Given the description of an element on the screen output the (x, y) to click on. 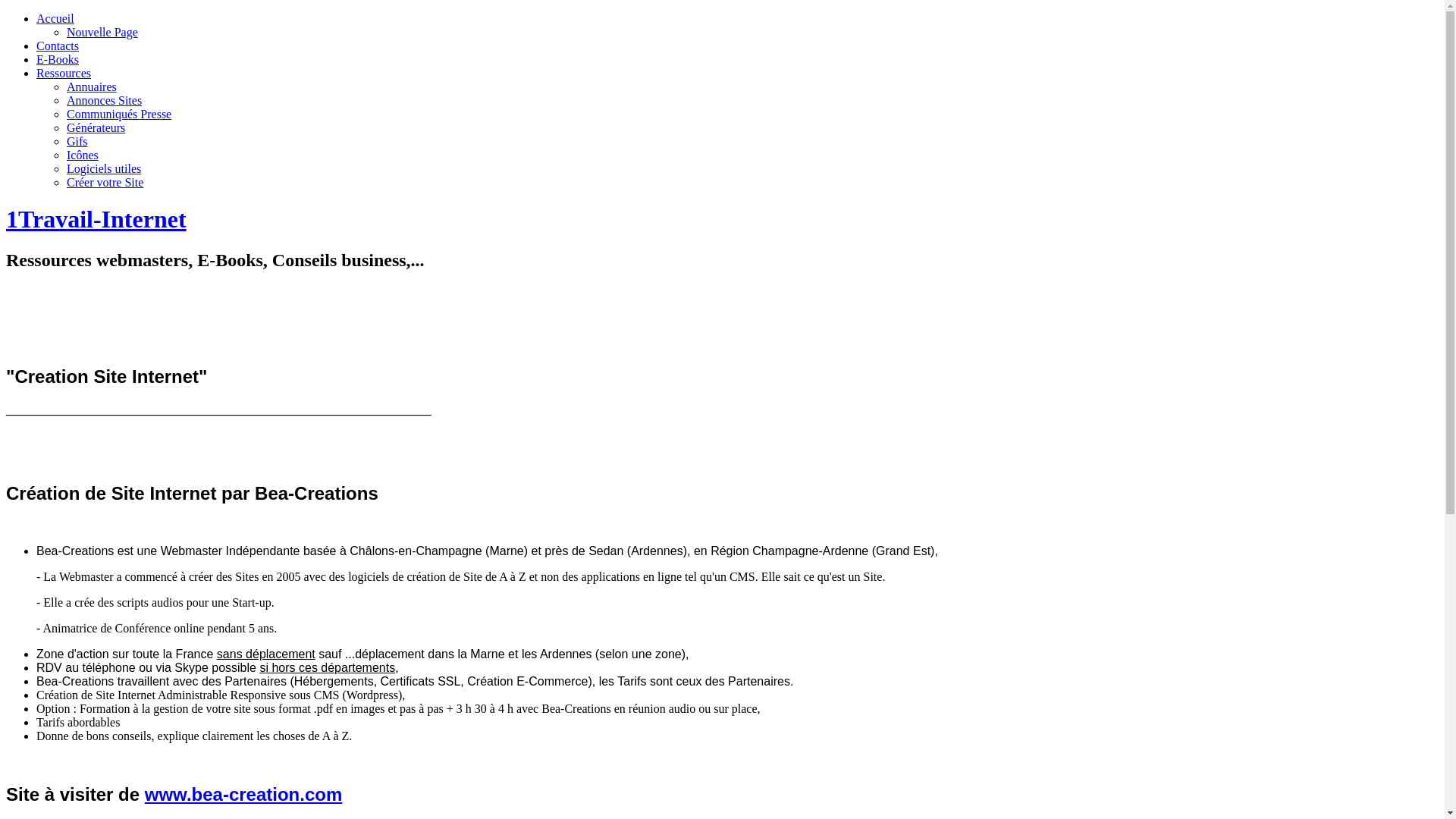
Nouvelle Page Element type: text (102, 31)
Gifs Element type: text (76, 140)
1Travail-Internet Element type: text (96, 218)
E-Books Element type: text (57, 59)
Annuaires Element type: text (91, 86)
Accueil Element type: text (55, 18)
Logiciels utiles Element type: text (103, 168)
Contacts Element type: text (57, 45)
Annonces Sites Element type: text (103, 100)
Ressources Element type: text (63, 72)
www.bea-creation.com Element type: text (243, 794)
